Given the description of an element on the screen output the (x, y) to click on. 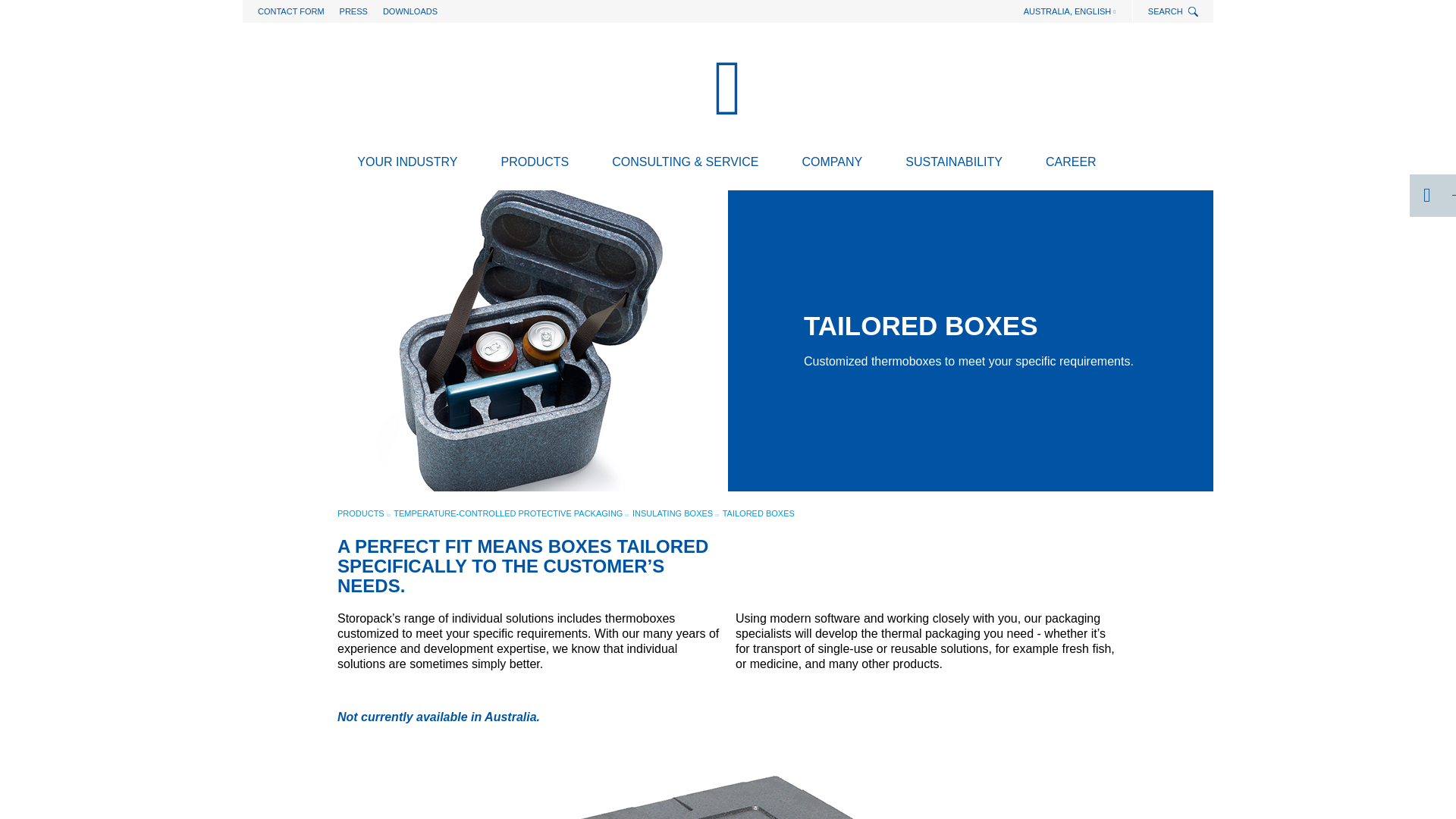
Contact Form (290, 11)
Your Industry (407, 165)
PRESS (353, 11)
Press (353, 11)
CONTACT FORM (290, 11)
Switch Search (1194, 12)
DOWNLOADS (410, 11)
YOUR INDUSTRY (407, 165)
Downloads (410, 11)
